Given the description of an element on the screen output the (x, y) to click on. 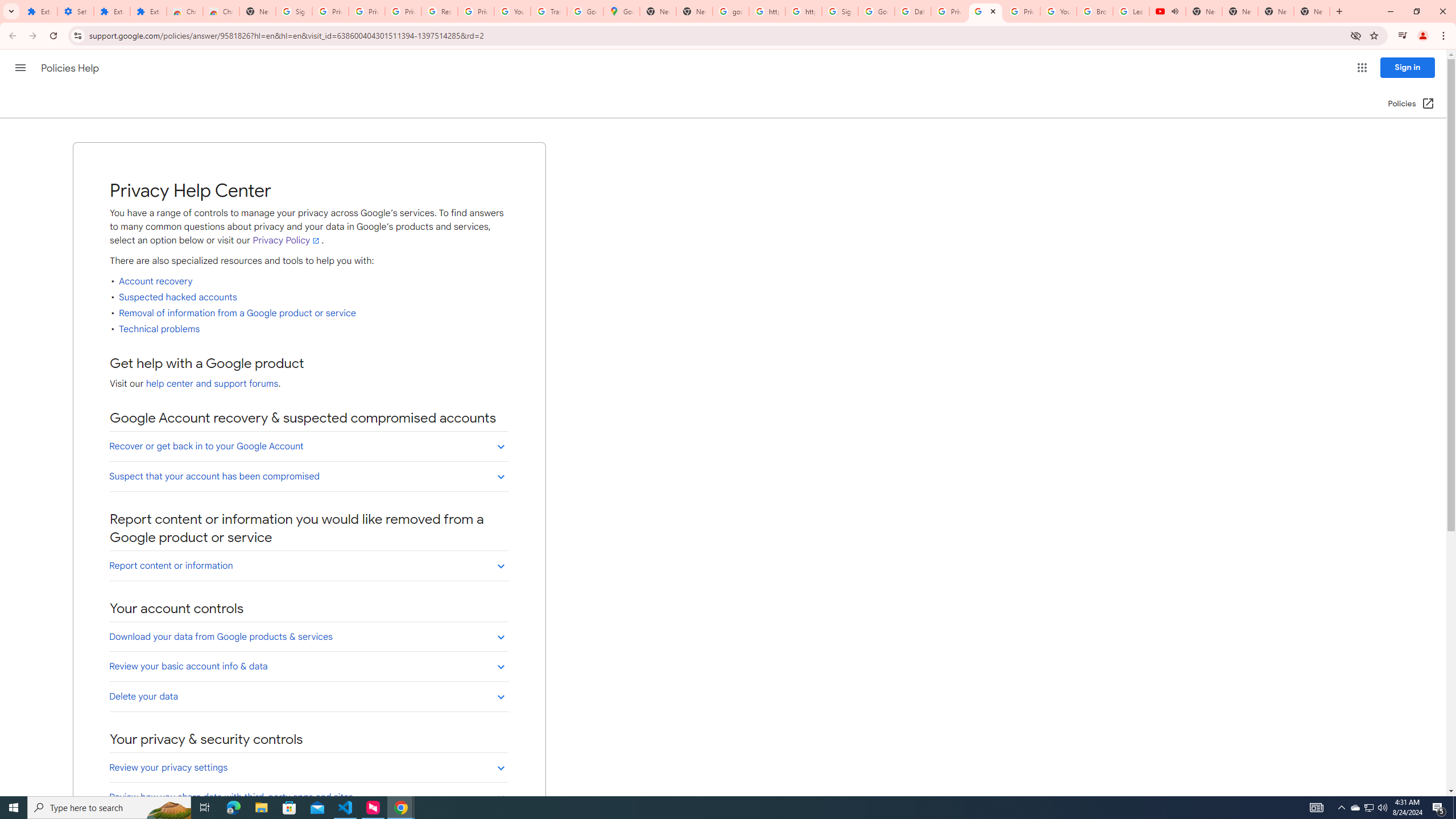
New Tab (1311, 11)
https://scholar.google.com/ (803, 11)
Main menu (20, 67)
New Tab (257, 11)
Sign in - Google Accounts (839, 11)
Technical problems (159, 328)
Review your privacy settings (308, 767)
Mute tab (1174, 10)
YouTube (1058, 11)
